Given the description of an element on the screen output the (x, y) to click on. 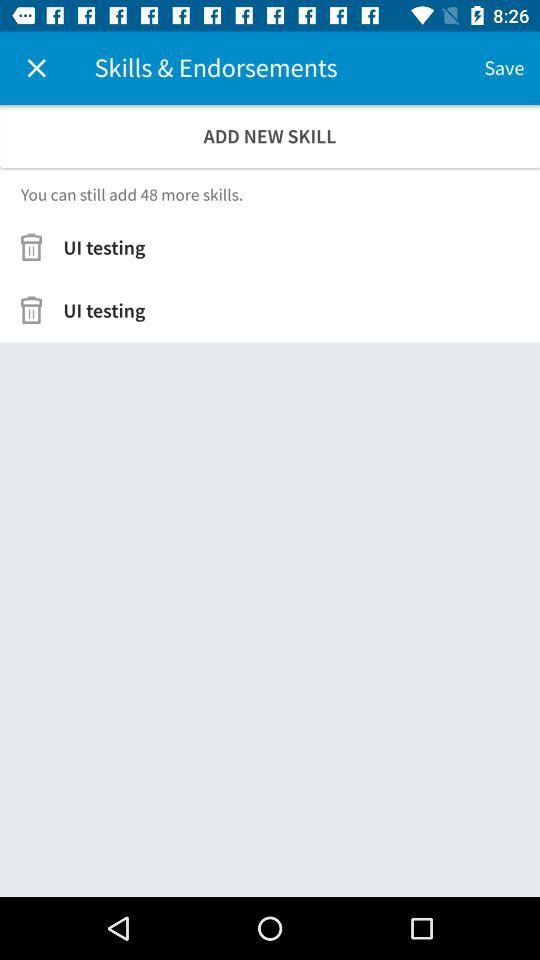
tap item to the right of skills & endorsements item (504, 67)
